Given the description of an element on the screen output the (x, y) to click on. 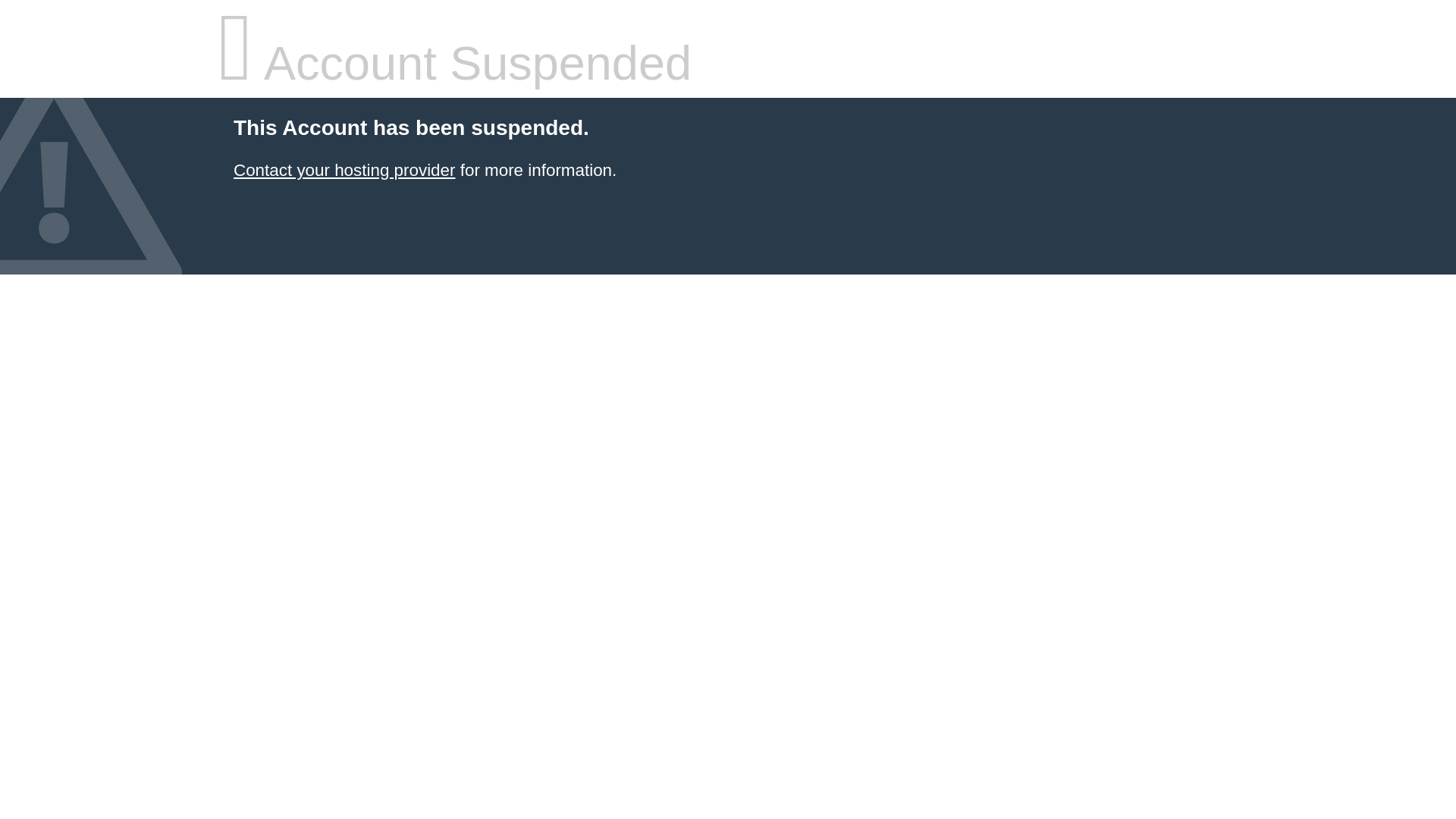
Contact your hosting provider (343, 169)
